Given the description of an element on the screen output the (x, y) to click on. 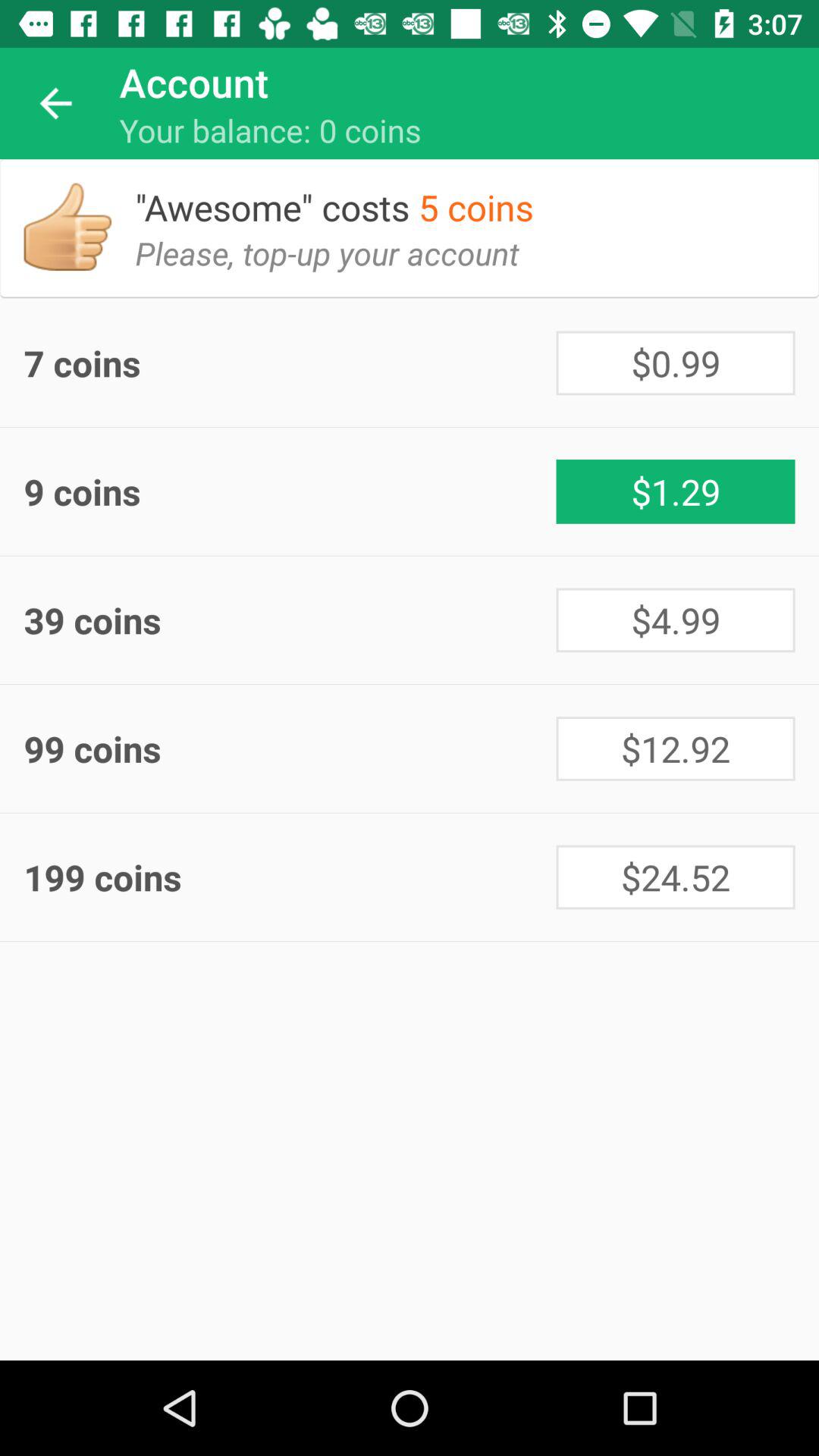
tap icon to the left of the $4.99 (289, 620)
